Given the description of an element on the screen output the (x, y) to click on. 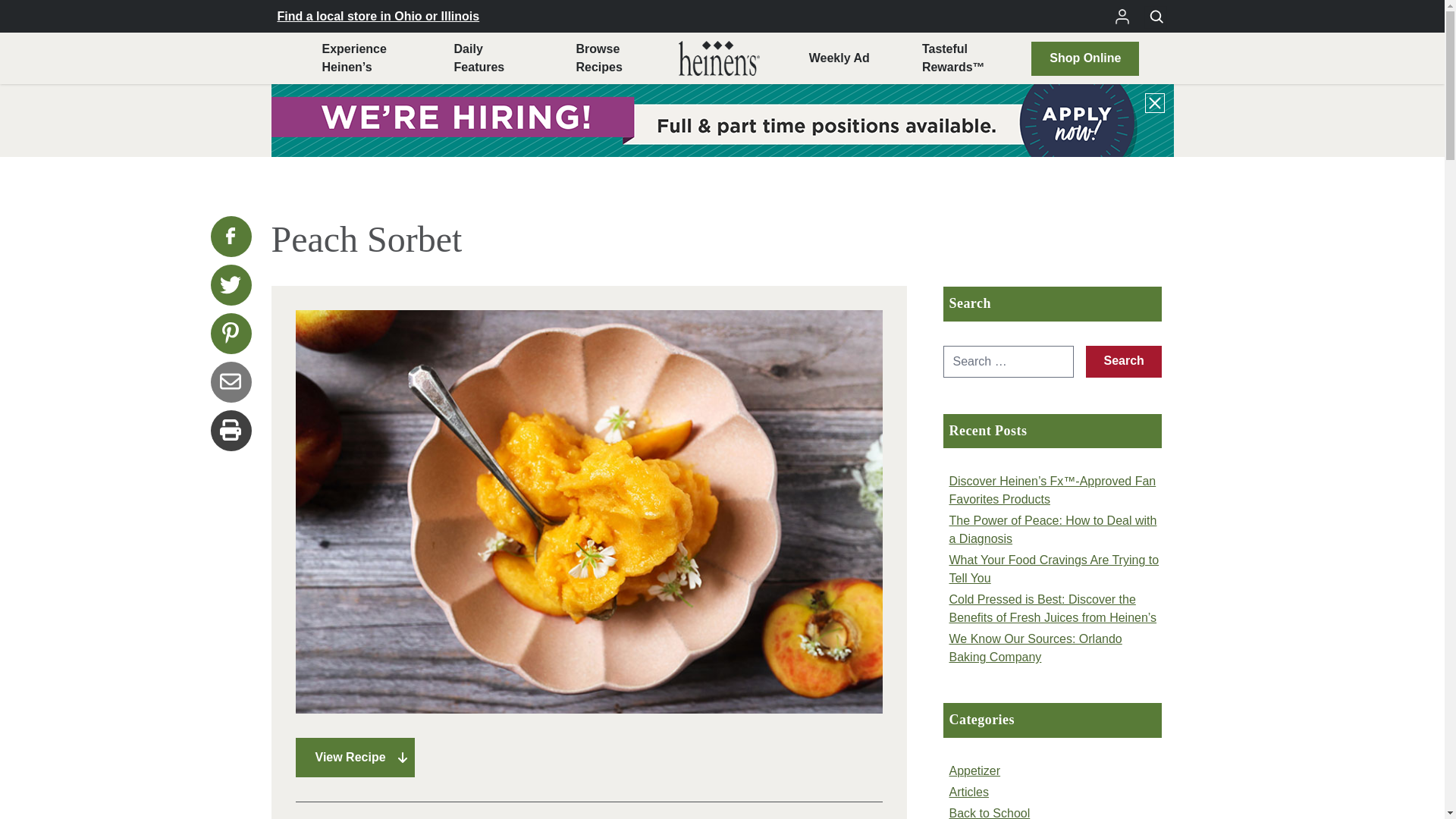
Find a local store in Ohio or Illinois (379, 15)
Weekly Ad (839, 58)
Shop Online (598, 58)
